Given the description of an element on the screen output the (x, y) to click on. 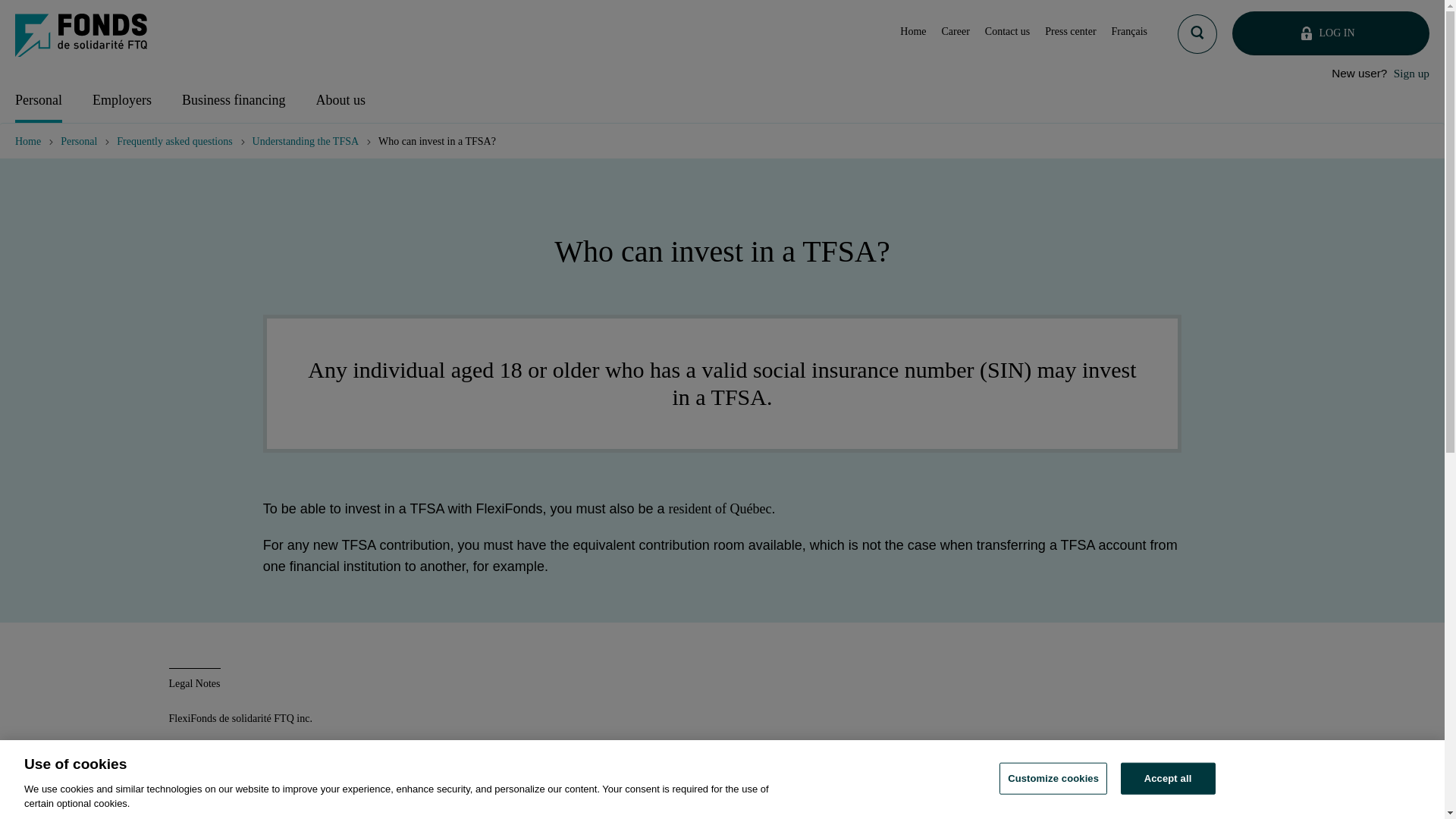
LOG IN (1330, 33)
Personal (38, 101)
